Given the description of an element on the screen output the (x, y) to click on. 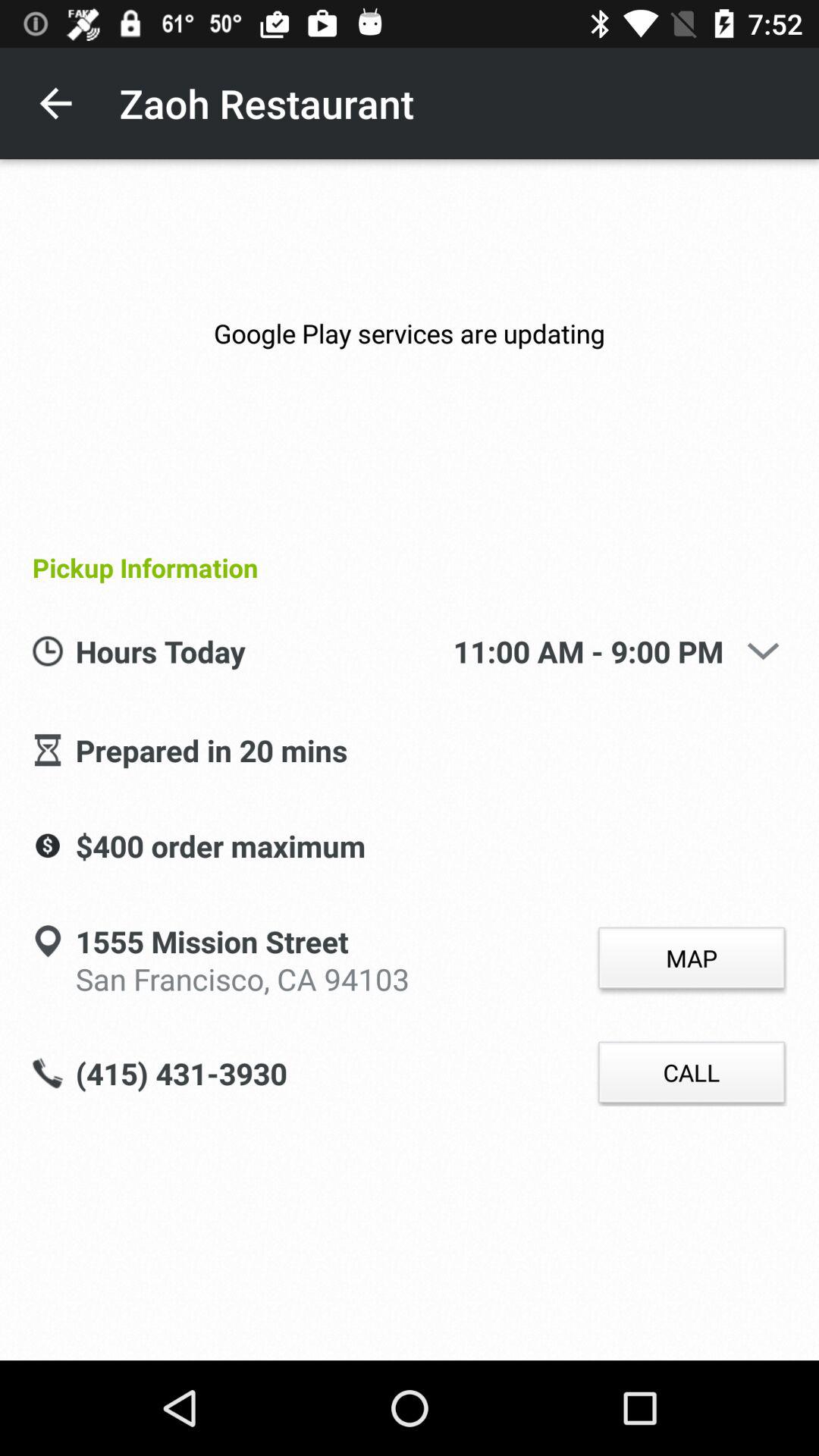
flip until pickup information item (404, 567)
